Given the description of an element on the screen output the (x, y) to click on. 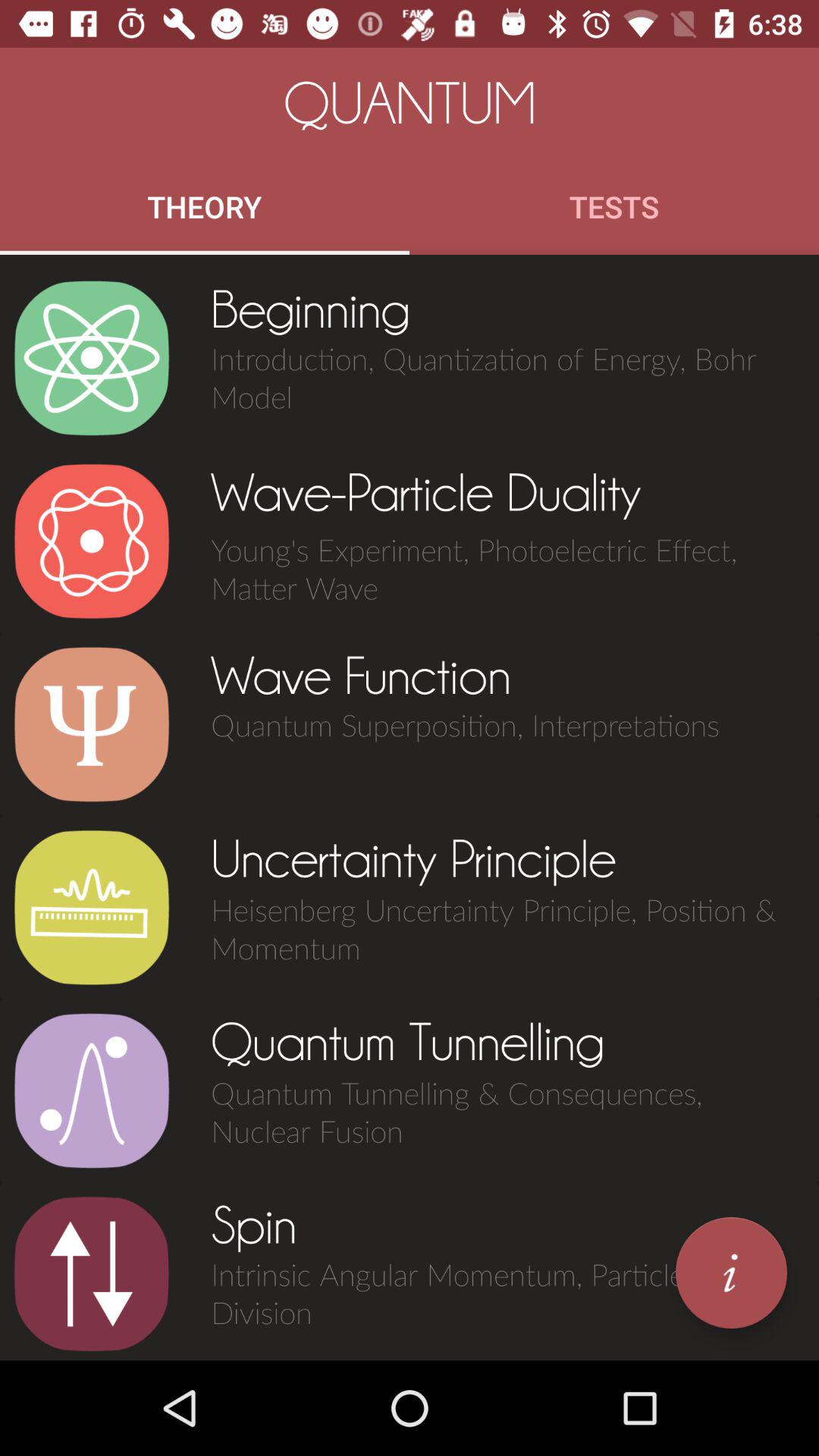
open item at the bottom right corner (731, 1272)
